Given the description of an element on the screen output the (x, y) to click on. 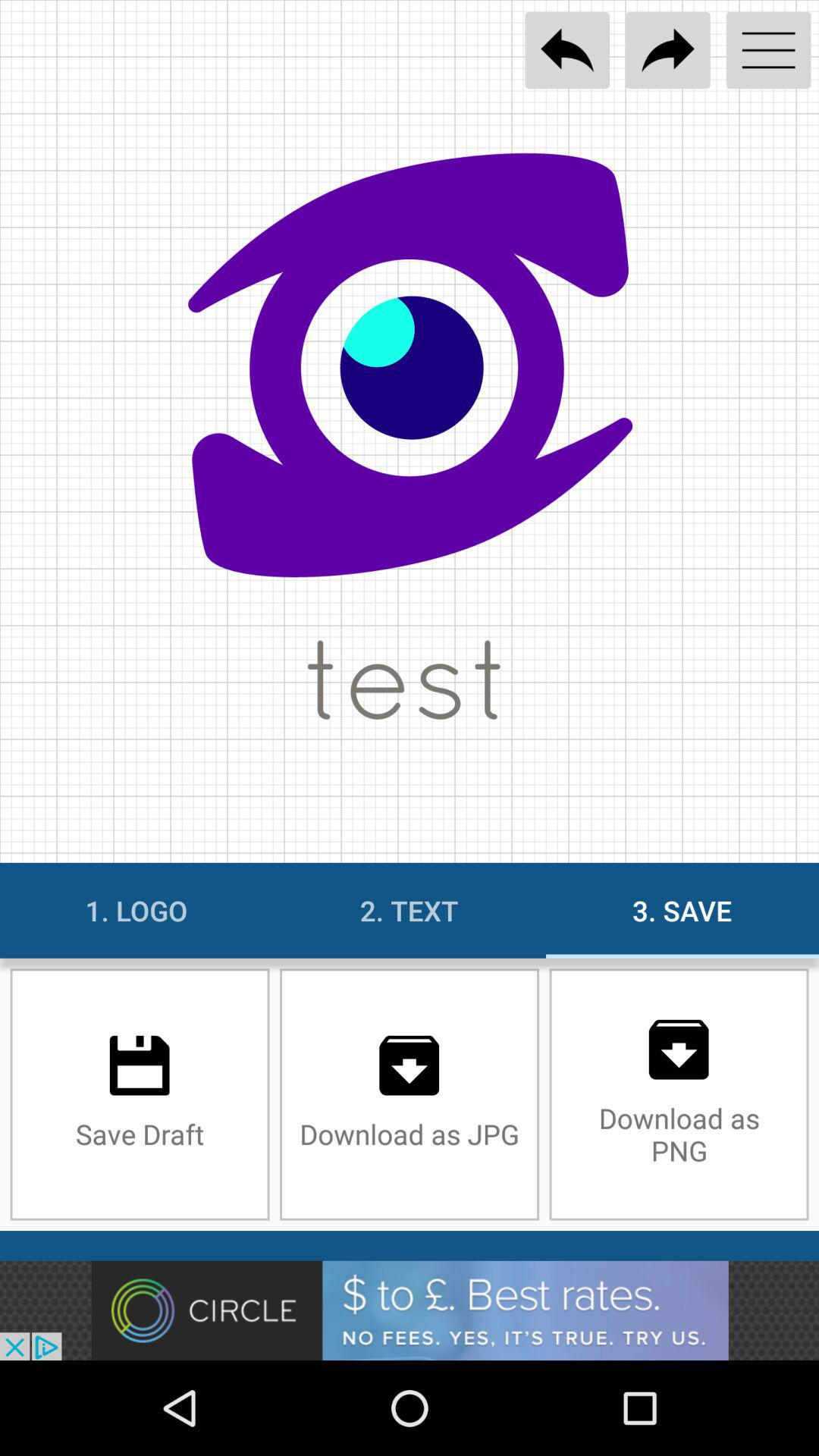
go back (566, 50)
